Given the description of an element on the screen output the (x, y) to click on. 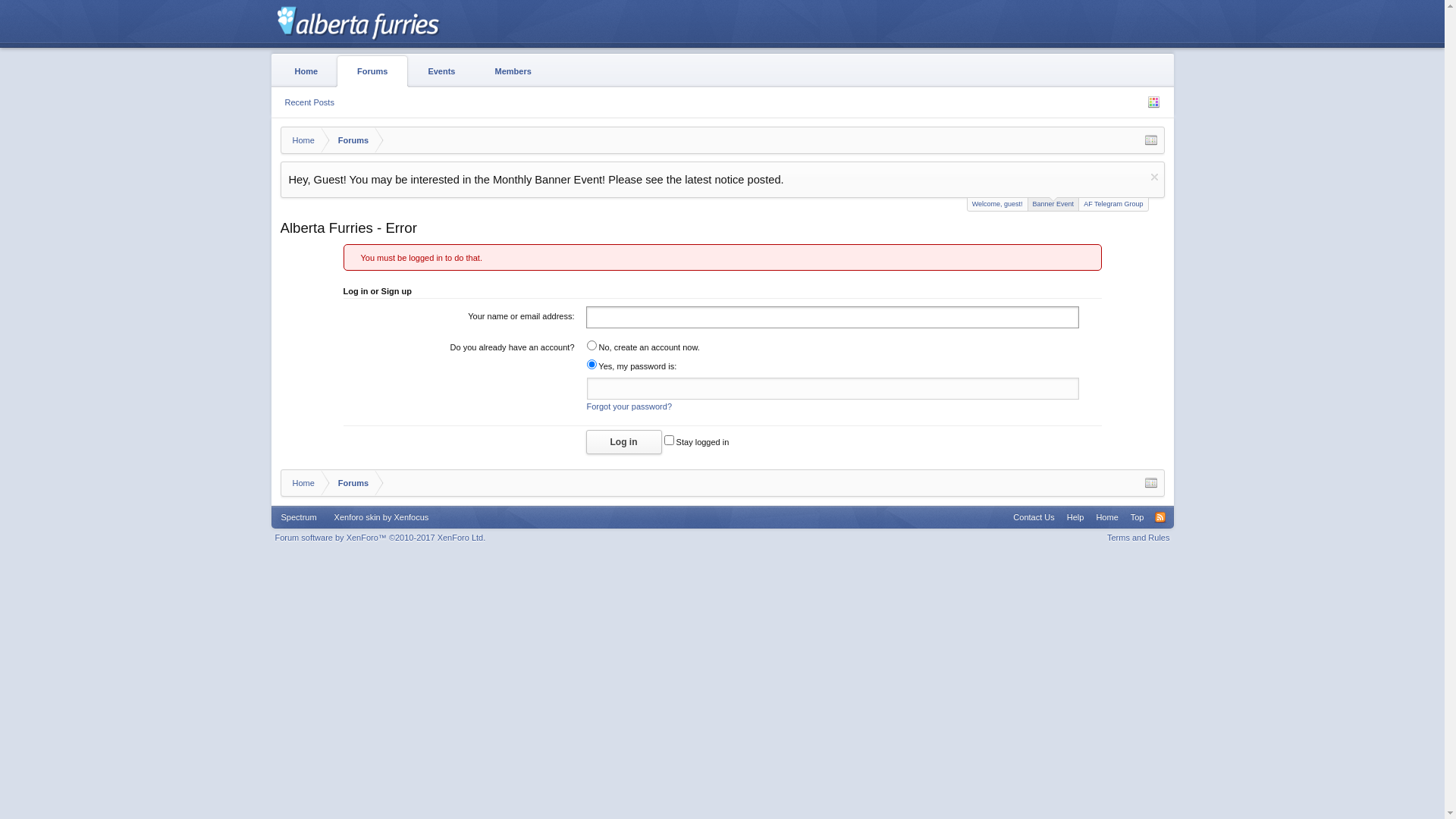
Recent Posts Element type: text (309, 102)
RSS Element type: text (1160, 517)
Forums Element type: text (347, 483)
Home Element type: text (300, 483)
Open quick navigation Element type: hover (1151, 140)
Forums Element type: text (347, 140)
Open quick navigation Element type: hover (1151, 482)
Welcome, guest! Element type: text (997, 204)
Home Element type: text (1106, 516)
Spectrum Element type: text (298, 516)
Xenforo skin Element type: text (357, 516)
Top Element type: text (1137, 516)
Help Element type: text (1075, 516)
Home Element type: text (305, 71)
AF Telegram Group Element type: text (1113, 204)
Forums Element type: text (372, 71)
Home Element type: text (300, 140)
Terms and Rules Element type: text (1138, 537)
Log in Element type: text (623, 441)
Xenfocus Element type: text (410, 516)
Contact Us Element type: text (1033, 516)
Forgot your password? Element type: text (629, 406)
Dismiss Notice Element type: text (1153, 176)
Banner Event Element type: text (1053, 204)
Members Element type: text (512, 71)
Events Element type: text (440, 71)
